Given the description of an element on the screen output the (x, y) to click on. 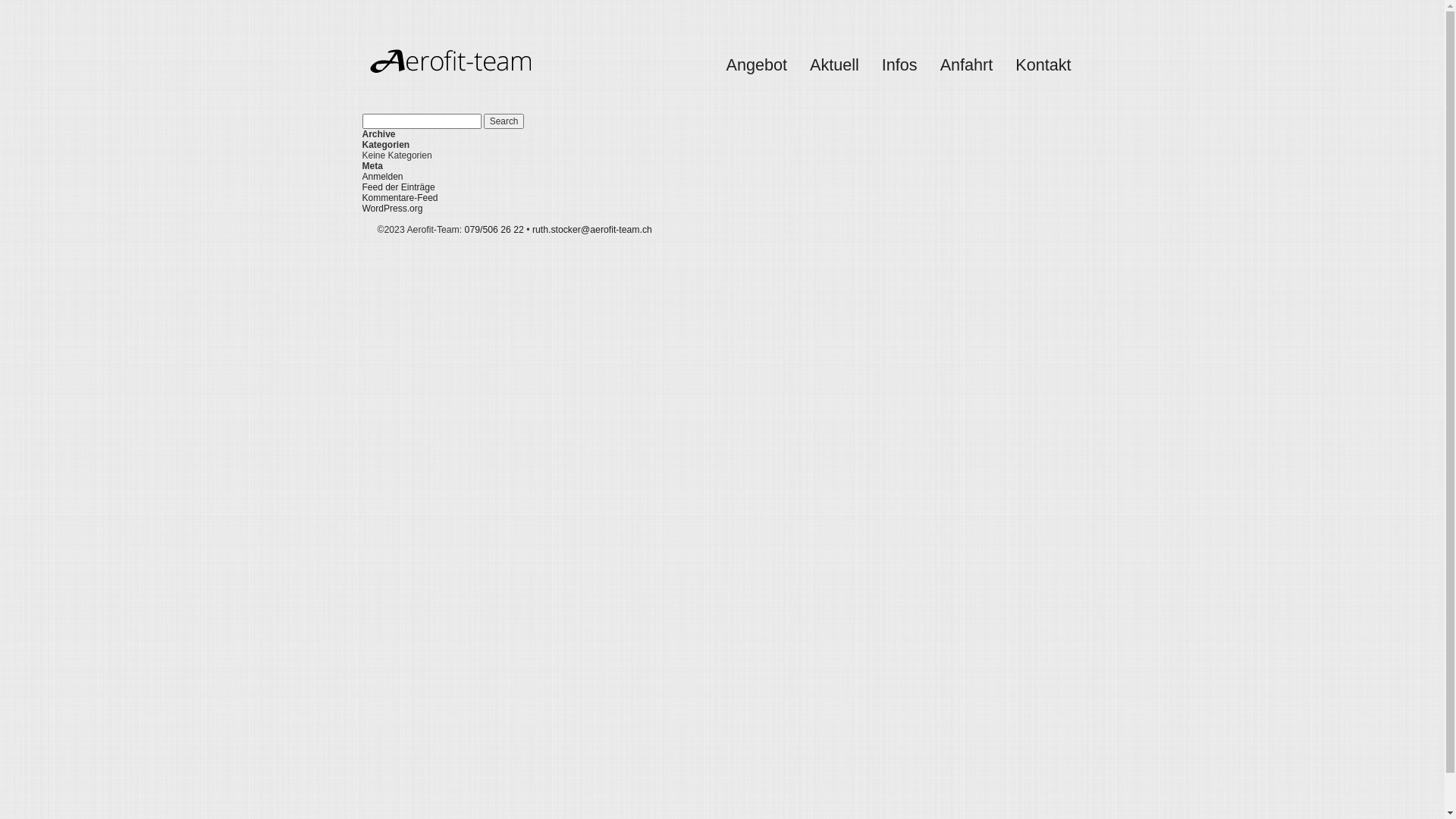
Infos Element type: text (899, 65)
Kommentare-Feed Element type: text (400, 197)
ruth.stocker@aerofit-team.ch Element type: text (592, 229)
Angebot Element type: text (756, 65)
Search Element type: text (503, 120)
Kontakt Element type: text (1043, 65)
079/506 26 22 Element type: text (494, 229)
WordPress.org Element type: text (392, 208)
Aktuell Element type: text (834, 65)
Anfahrt Element type: text (966, 65)
Anmelden Element type: text (382, 176)
